Given the description of an element on the screen output the (x, y) to click on. 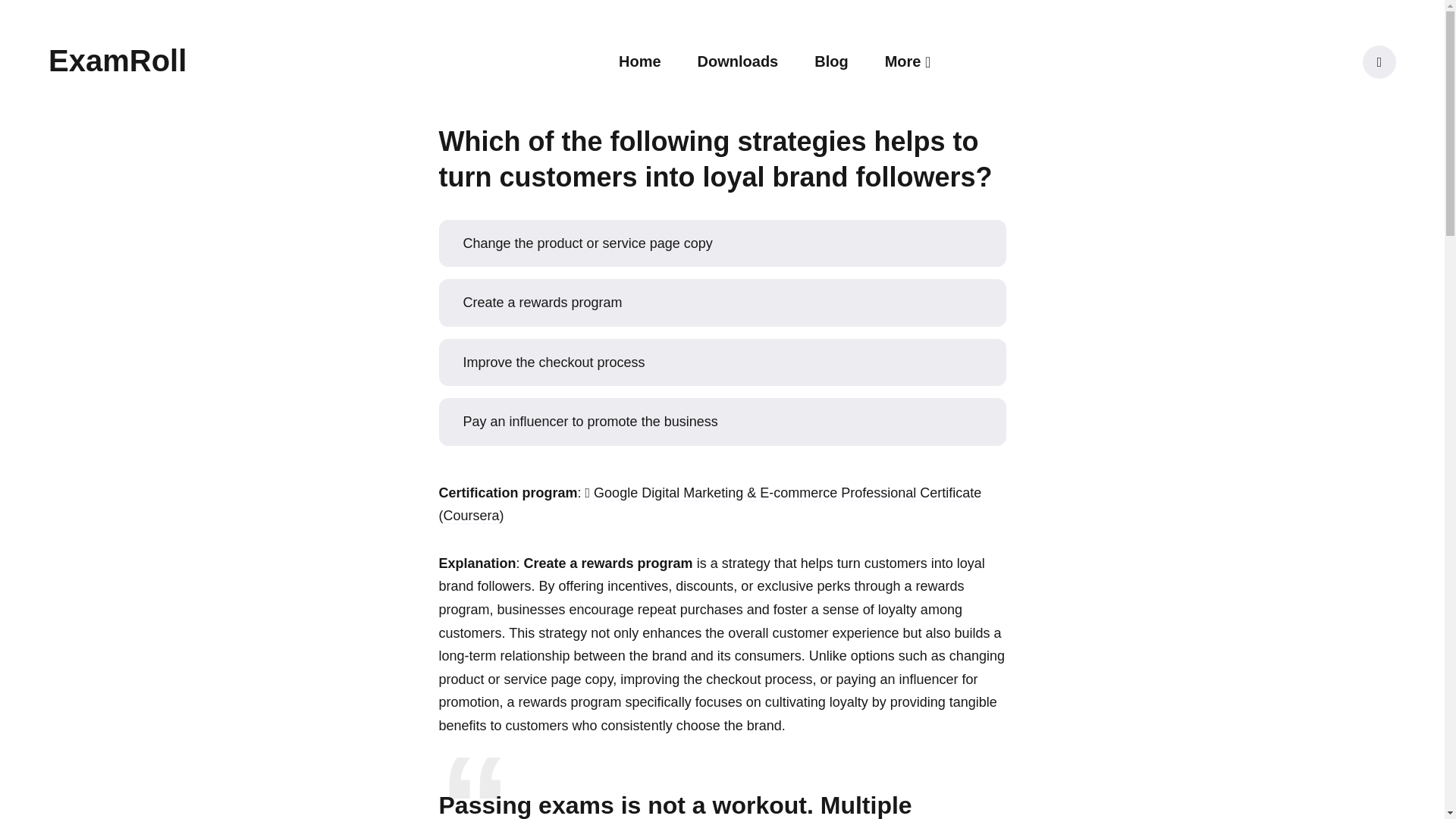
Downloads (737, 61)
ExamRoll (117, 60)
Blog (830, 61)
Home (639, 61)
